Given the description of an element on the screen output the (x, y) to click on. 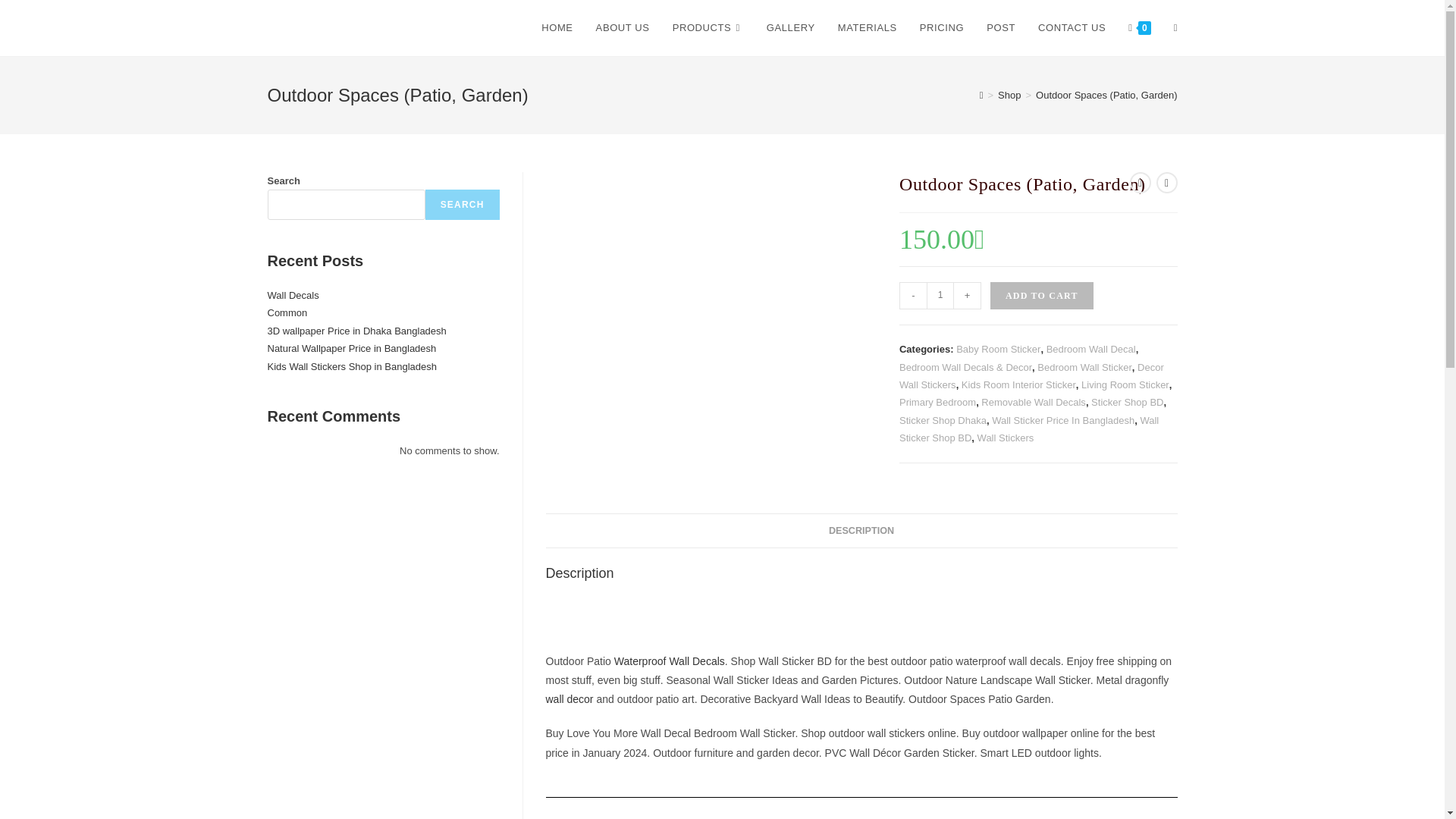
PRICING (941, 28)
CONTACT US (1071, 28)
1 (939, 295)
POST (1000, 28)
MATERIALS (867, 28)
GALLERY (791, 28)
PRODUCTS (708, 28)
HOME (556, 28)
ABOUT US (623, 28)
